Given the description of an element on the screen output the (x, y) to click on. 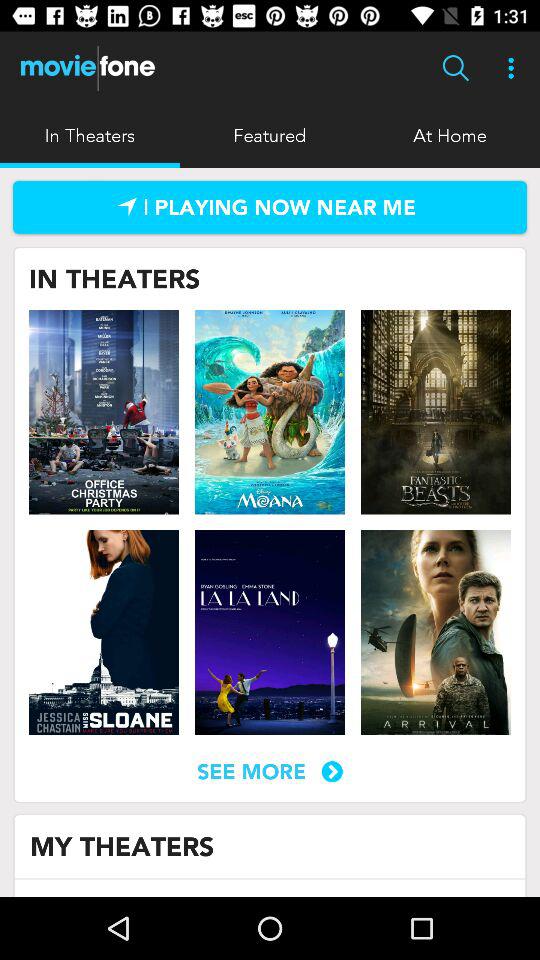
go to movie 's page (435, 632)
